Given the description of an element on the screen output the (x, y) to click on. 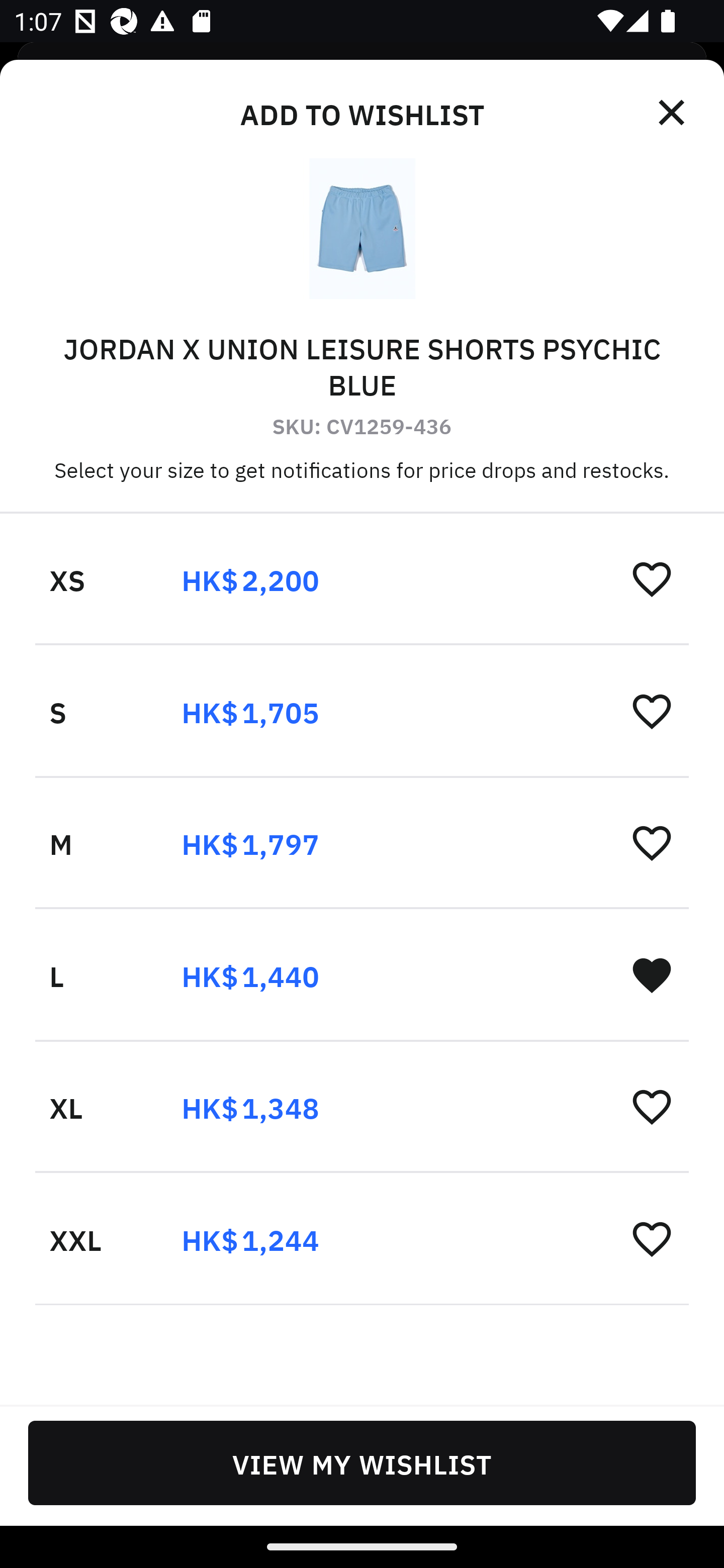
 (672, 112)
󰋕 (651, 578)
󰋕 (651, 710)
󰋕 (651, 842)
󰋑 (651, 974)
󰋕 (651, 1105)
󰋕 (651, 1237)
VIEW MY WISHLIST (361, 1462)
